Given the description of an element on the screen output the (x, y) to click on. 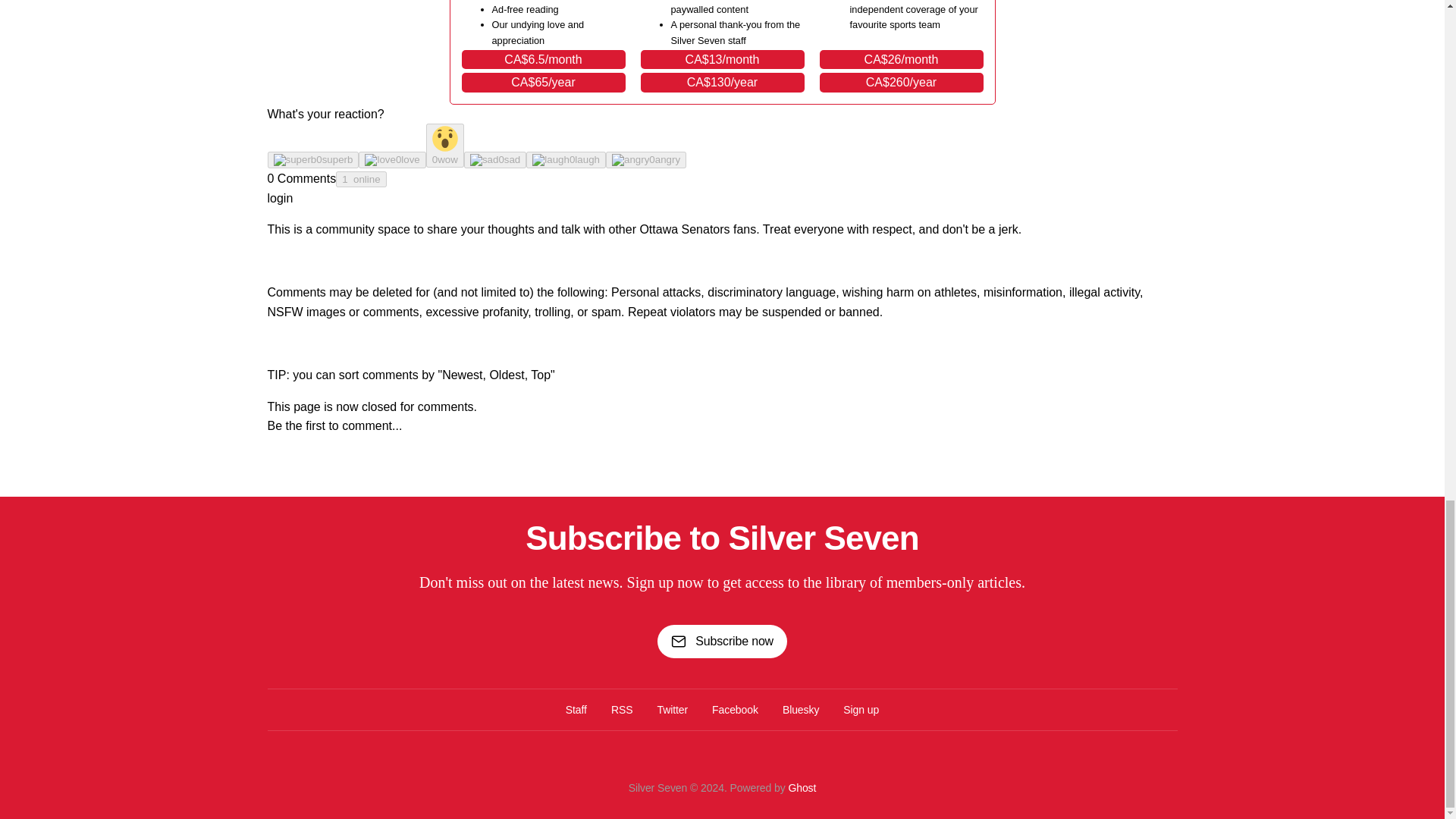
Sign up (861, 709)
Staff (576, 709)
Bluesky (800, 709)
RSS (622, 709)
Subscribe now (722, 641)
Facebook (734, 709)
Twitter (671, 709)
Ghost (801, 787)
